Given the description of an element on the screen output the (x, y) to click on. 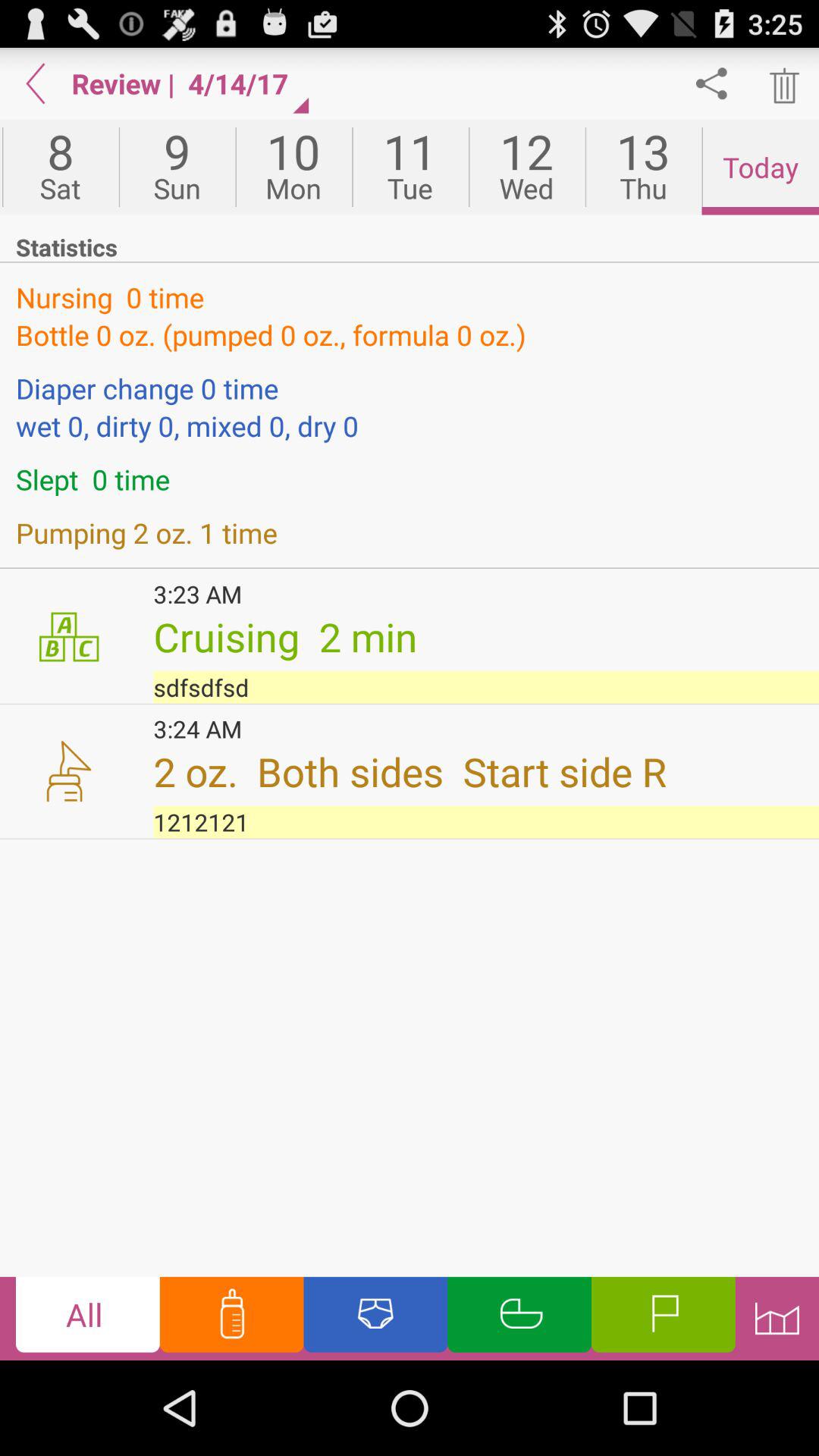
press app next to the 11 icon (526, 166)
